Given the description of an element on the screen output the (x, y) to click on. 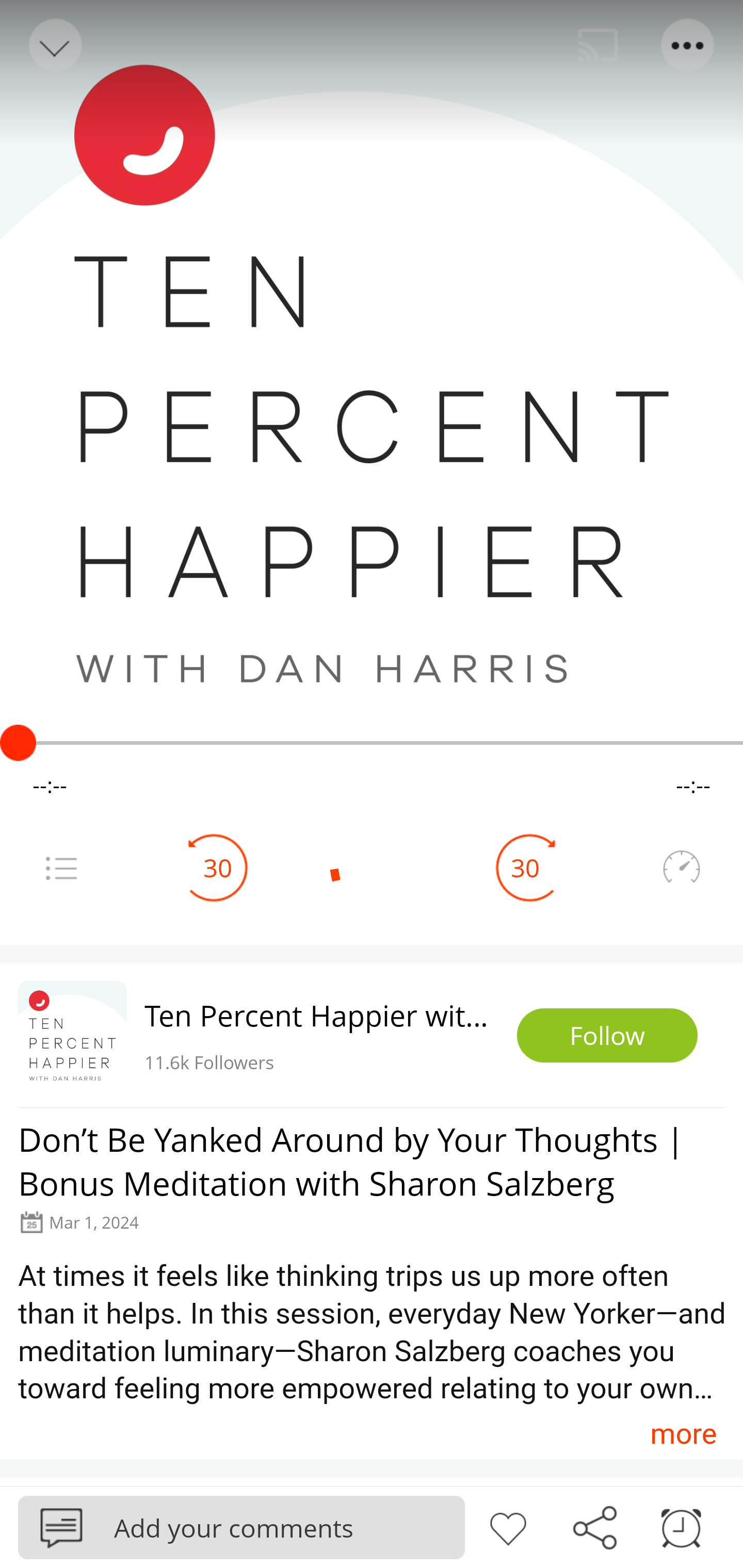
Back (53, 45)
Cast. Disconnected (597, 45)
Menu (688, 45)
30 Seek Backward (217, 867)
30 Seek Forward (525, 867)
Menu (60, 867)
Speedometer (681, 867)
Follow (607, 1035)
more (682, 1432)
Like (508, 1526)
Share (594, 1526)
Sleep timer (681, 1526)
Podbean Add your comments (241, 1526)
